Given the description of an element on the screen output the (x, y) to click on. 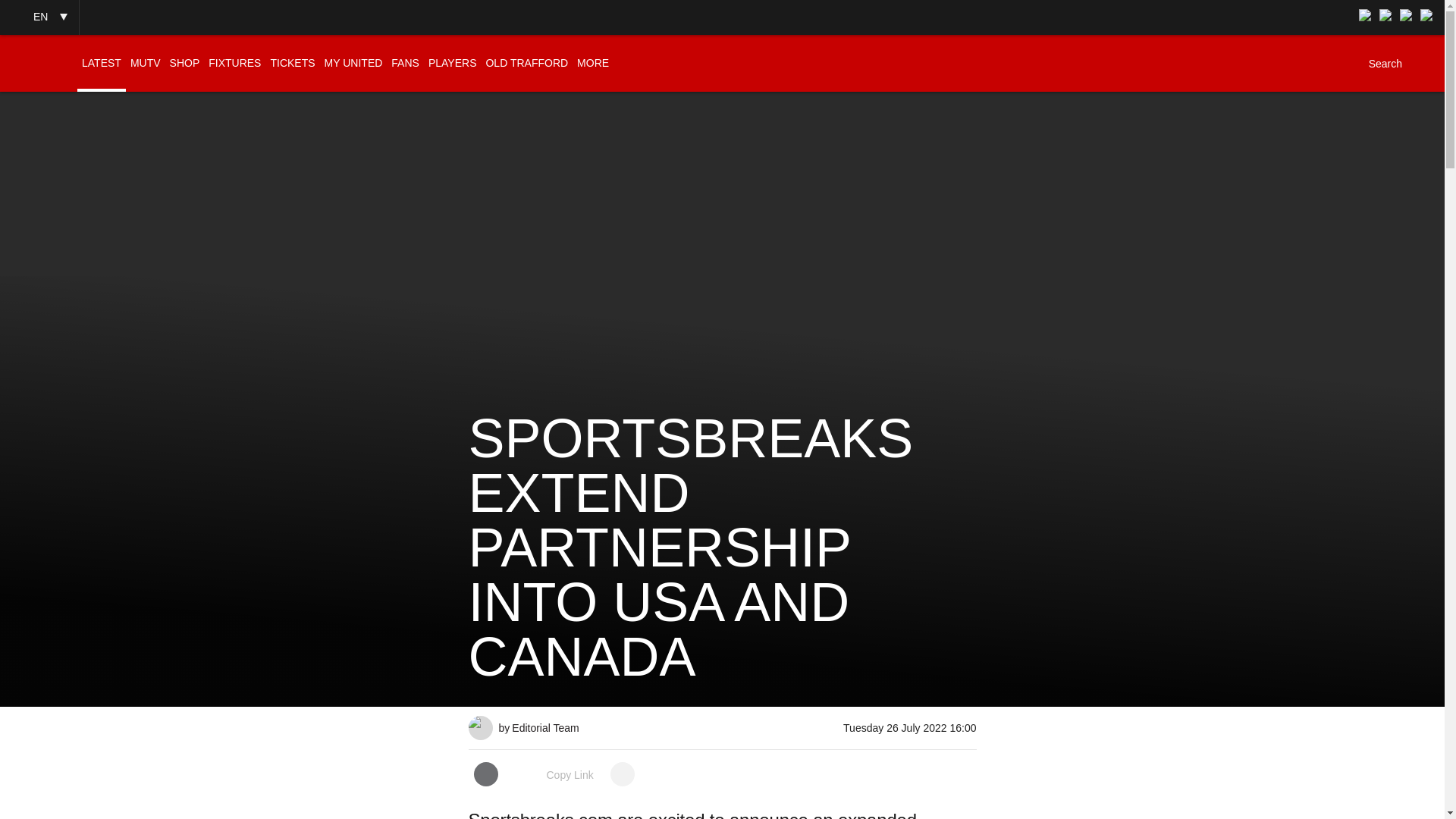
Old Trafford.  (480, 721)
MY UNITED (353, 63)
FIXTURES (233, 63)
TICKETS (291, 63)
Copy Link (552, 774)
PLAYERS (452, 63)
OLD TRAFFORD (526, 63)
